Given the description of an element on the screen output the (x, y) to click on. 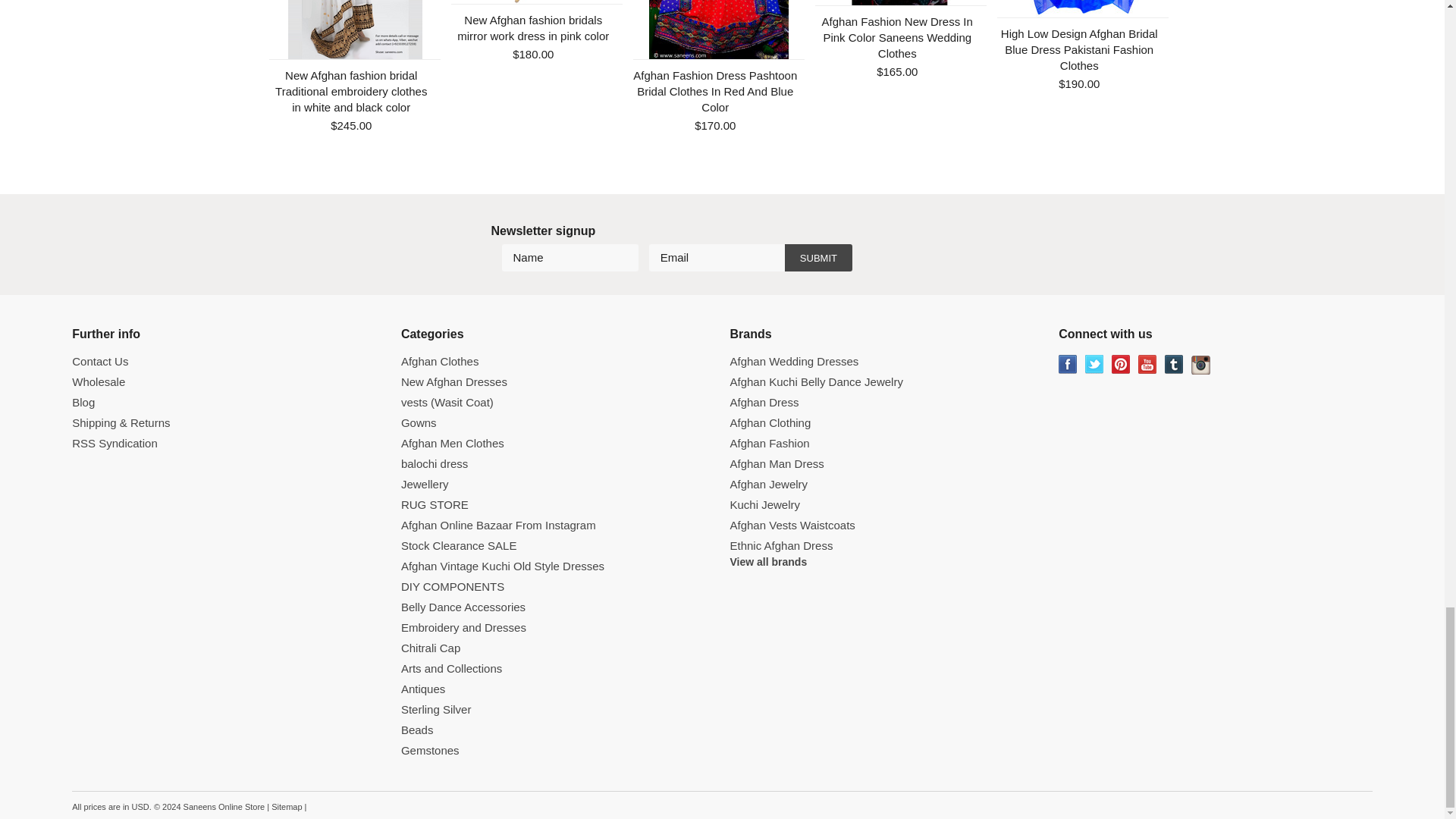
Name (570, 257)
Submit (817, 257)
Email (717, 257)
